Given the description of an element on the screen output the (x, y) to click on. 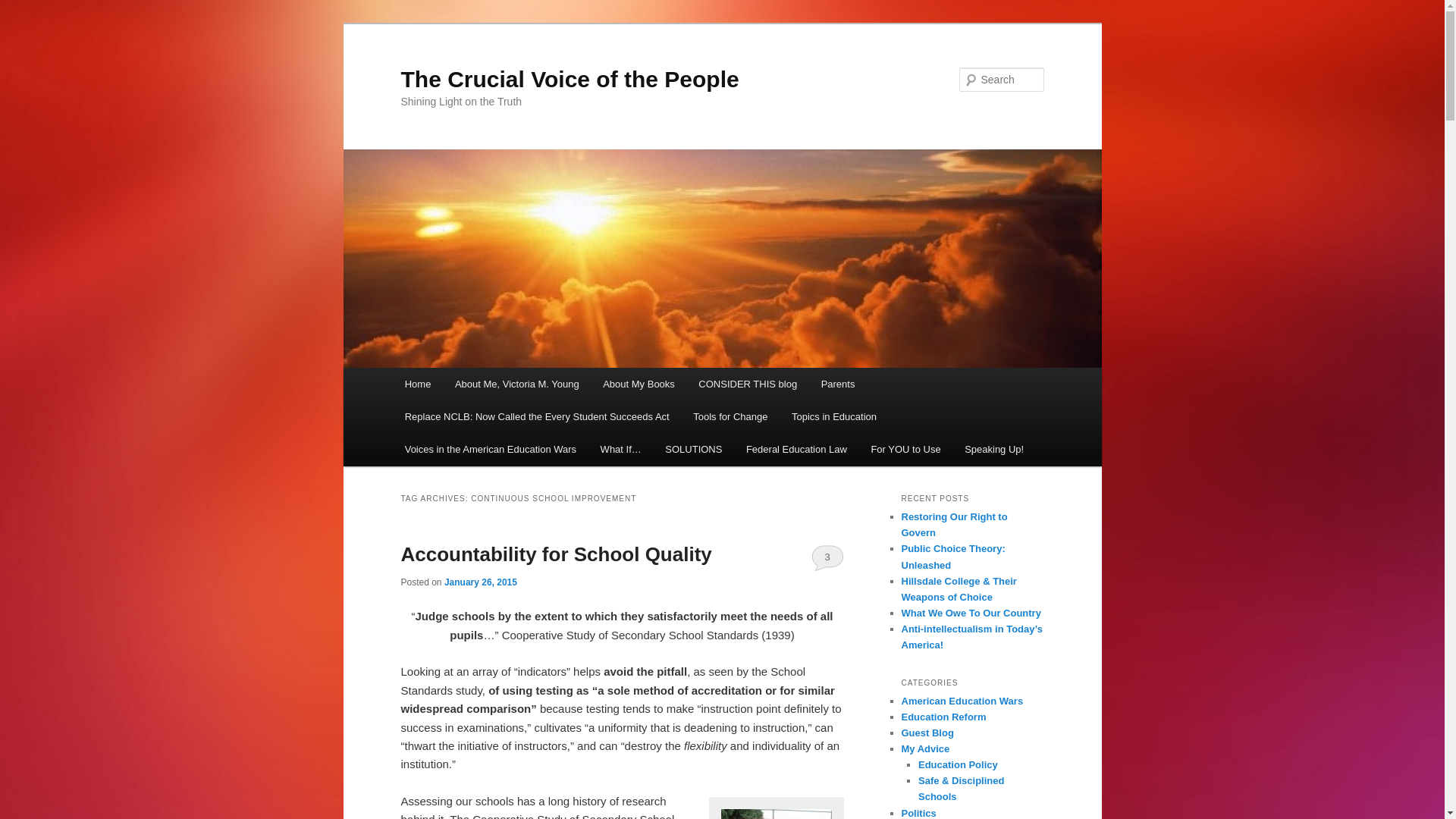
Parents (837, 383)
Home (417, 383)
Replace NCLB: Now Called the Every Student Succeeds Act (537, 416)
About Me, Victoria M. Young (516, 383)
CONSIDER THIS blog (748, 383)
Federal Education Law (796, 449)
Voices in the American Education Wars (490, 449)
SOLUTIONS (694, 449)
The Crucial Voice of the People (569, 78)
About My Books (638, 383)
